Given the description of an element on the screen output the (x, y) to click on. 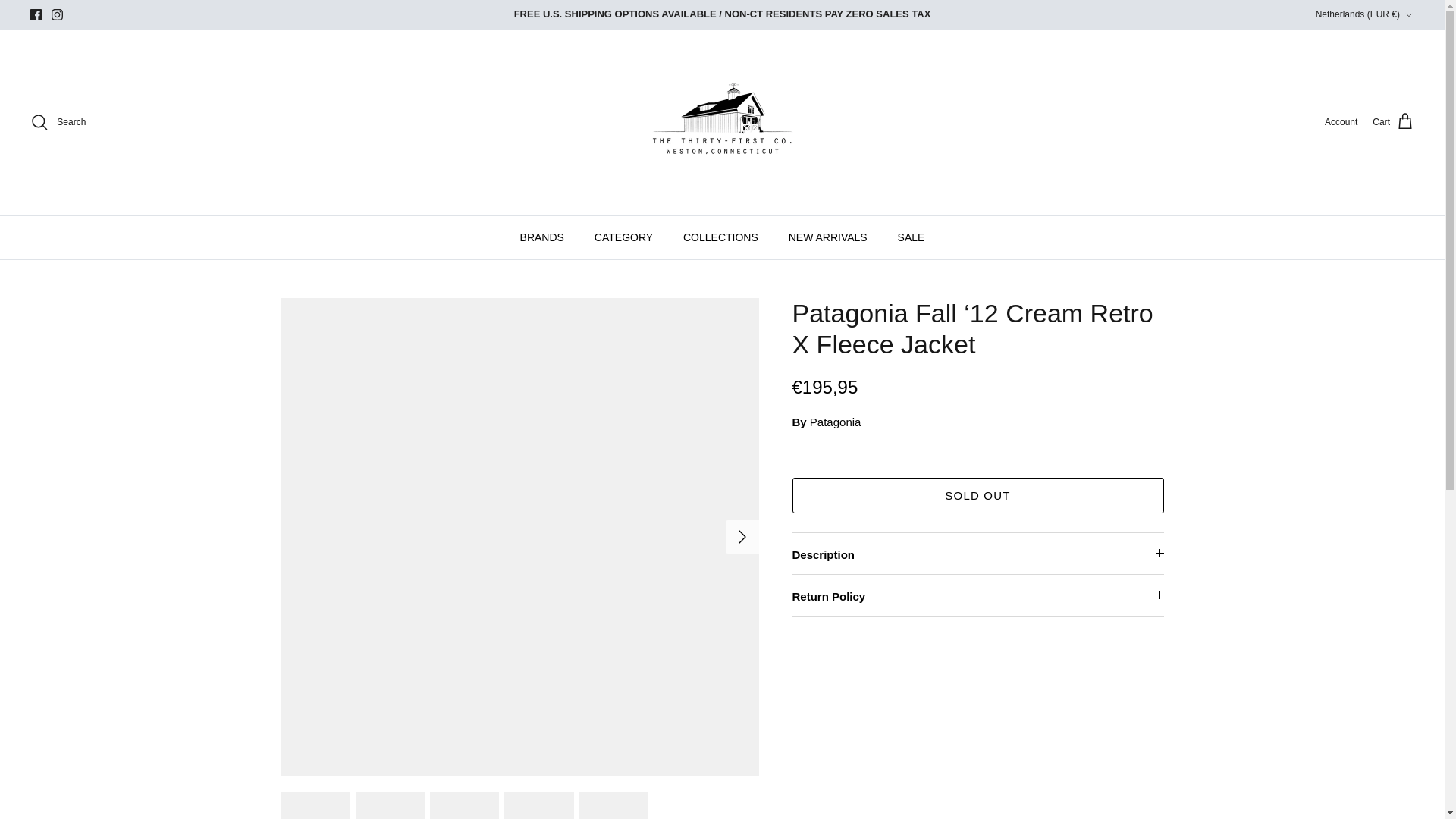
Instagram (56, 14)
RIGHT (741, 536)
Down (1408, 14)
Facebook (36, 14)
The Thirty-First Co. (722, 122)
Facebook (36, 14)
Search (57, 122)
Instagram (56, 14)
